Given the description of an element on the screen output the (x, y) to click on. 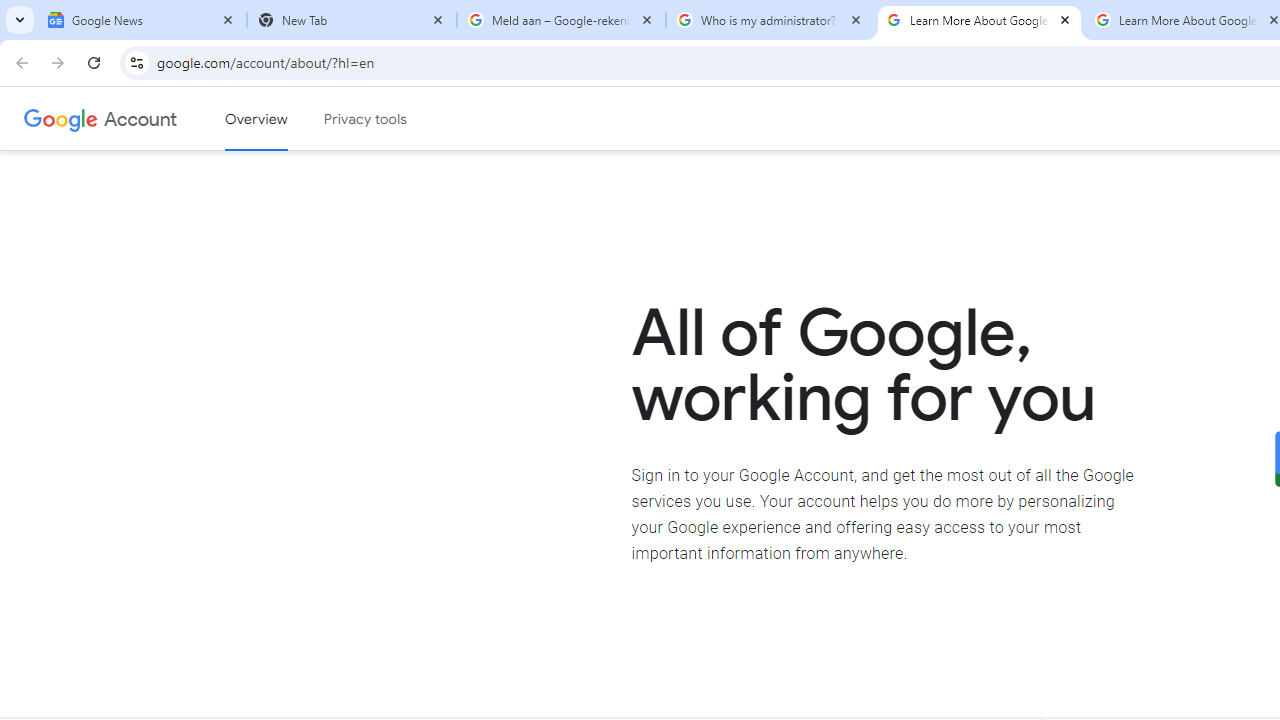
Google logo (61, 118)
